Given the description of an element on the screen output the (x, y) to click on. 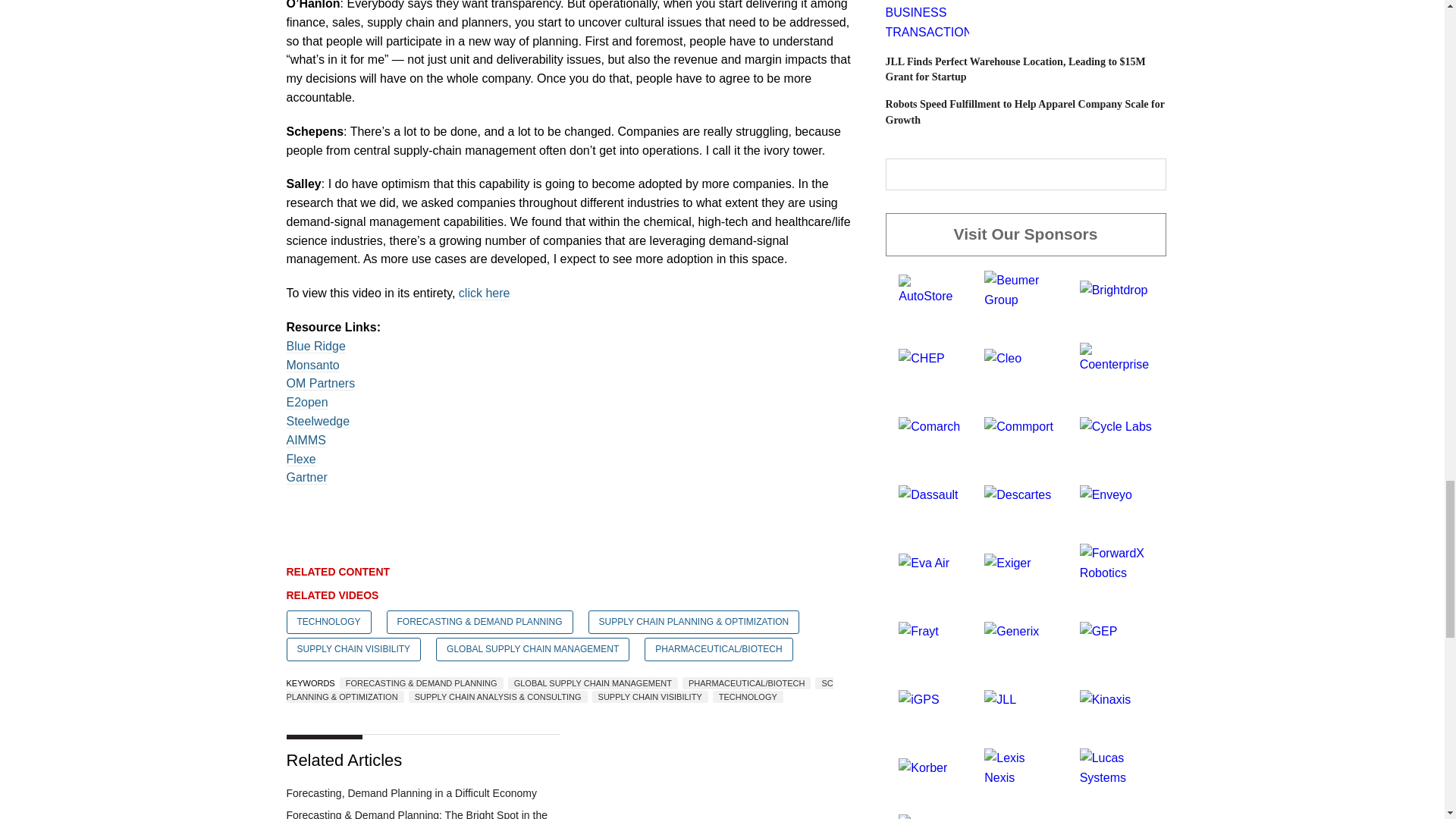
Brightdrop (1114, 289)
P66 EXOTEC.jpg (927, 21)
AutoStore (928, 288)
CHEP (920, 358)
Coenterprise (1116, 357)
Commport (1018, 426)
Enveyo (1106, 494)
Cleo (1003, 358)
Descartes (1017, 494)
Cycle Labs (1115, 426)
